Given the description of an element on the screen output the (x, y) to click on. 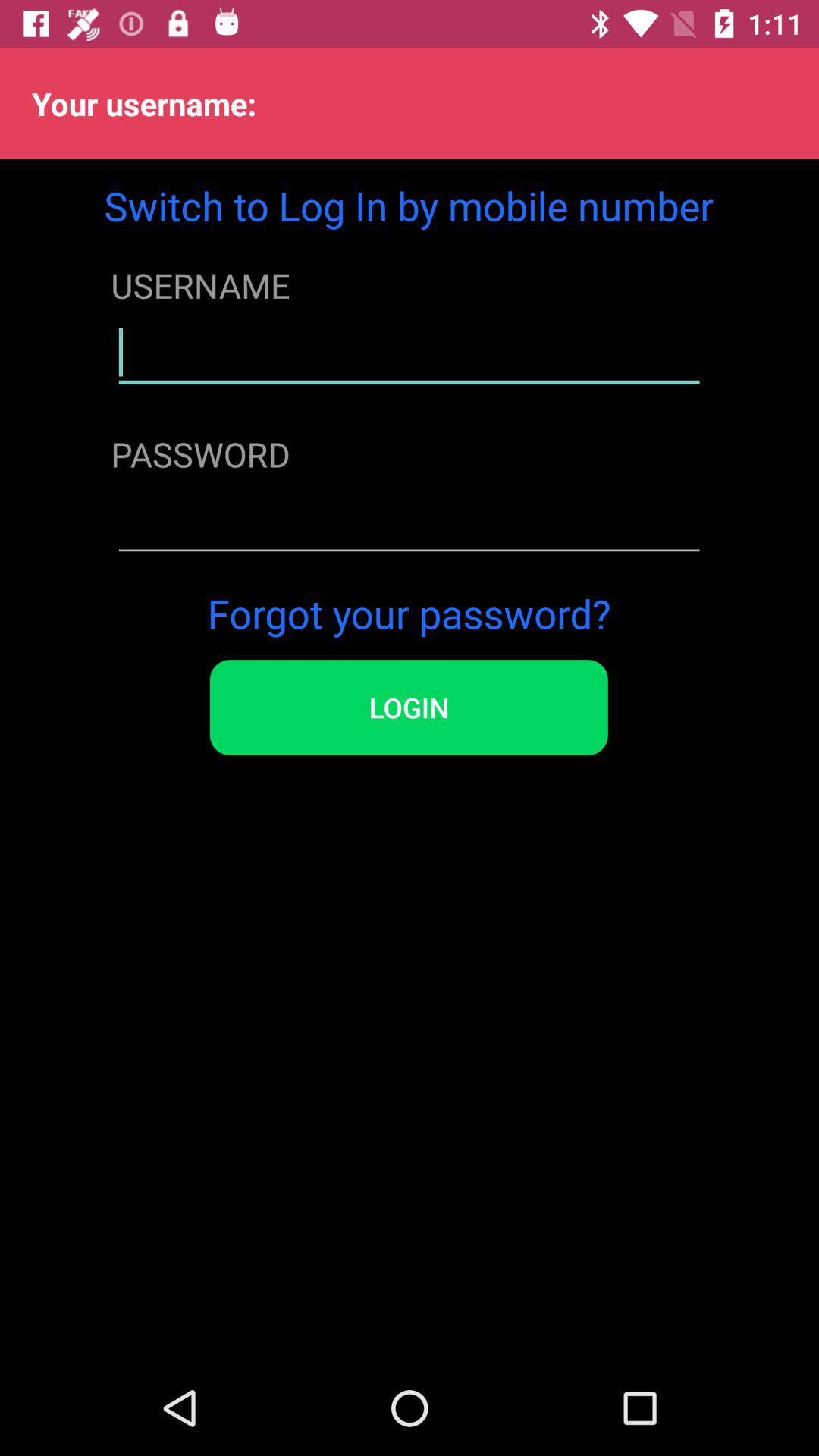
click the icon above the forgot your password? icon (408, 522)
